Given the description of an element on the screen output the (x, y) to click on. 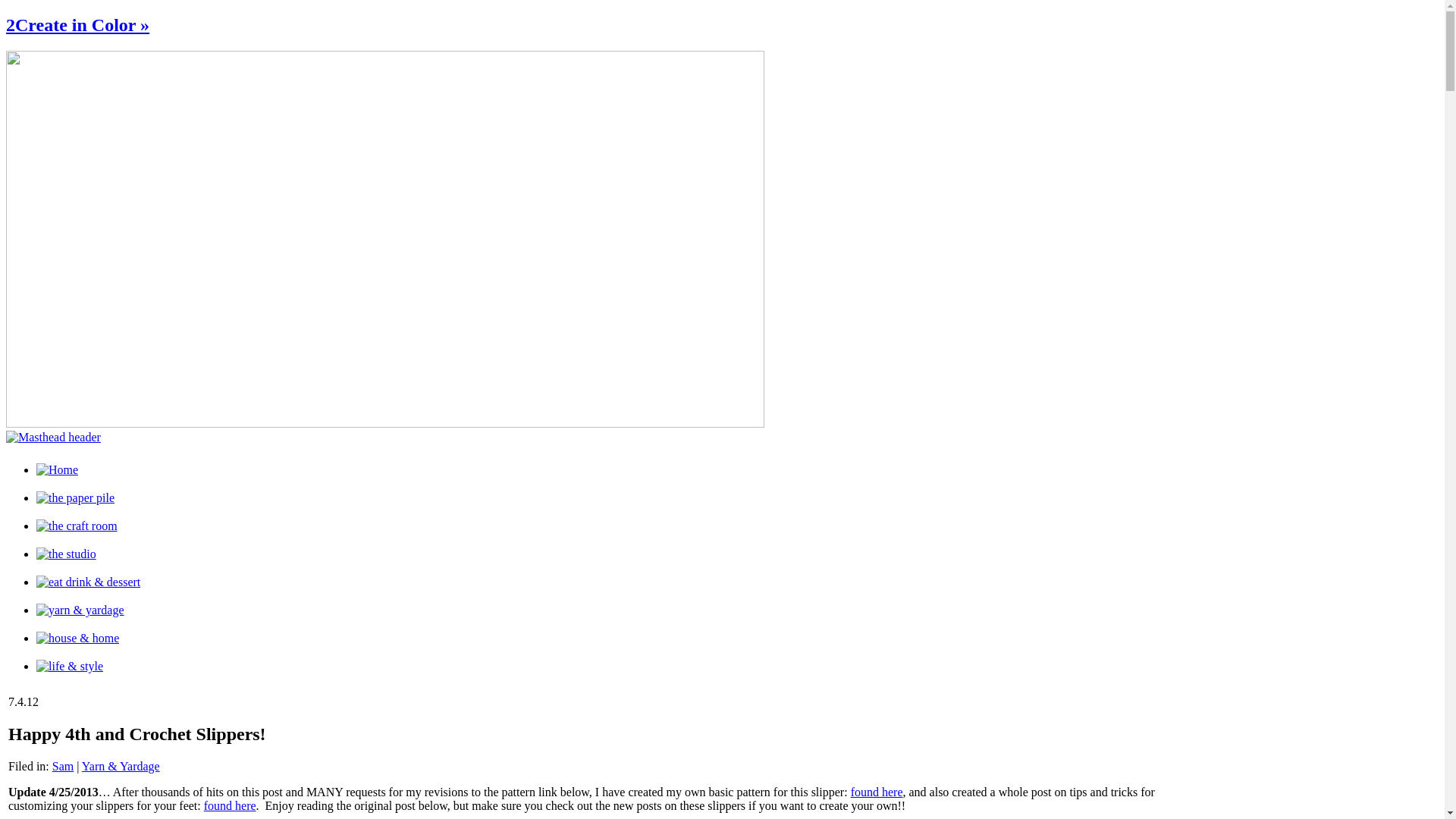
2Create in Color Element type: hover (57, 469)
found here Element type: text (876, 791)
found here Element type: text (229, 805)
Sam Element type: text (62, 765)
Yarn & Yardage Element type: text (120, 765)
